Given the description of an element on the screen output the (x, y) to click on. 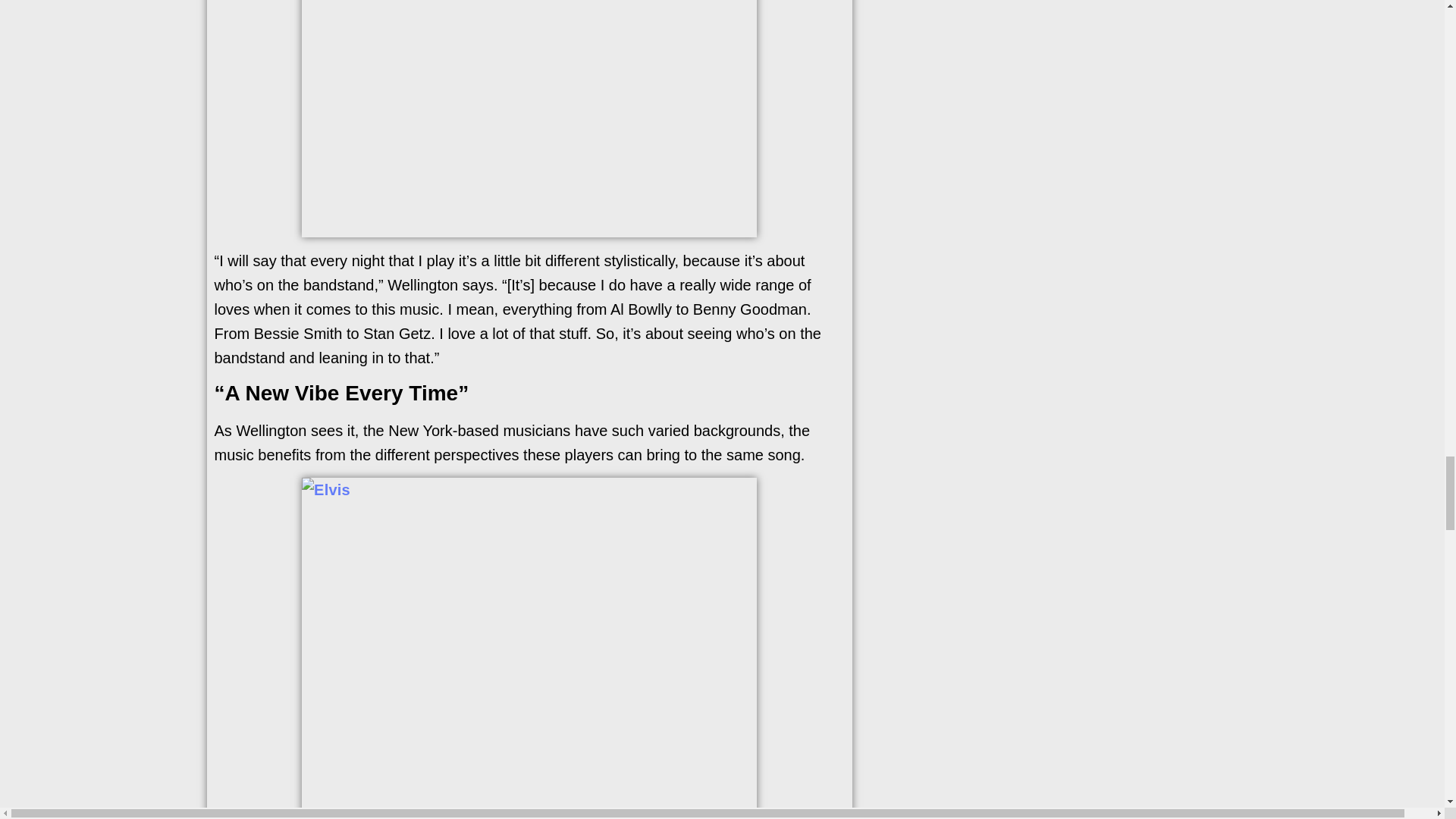
78RPM (529, 118)
